Given the description of an element on the screen output the (x, y) to click on. 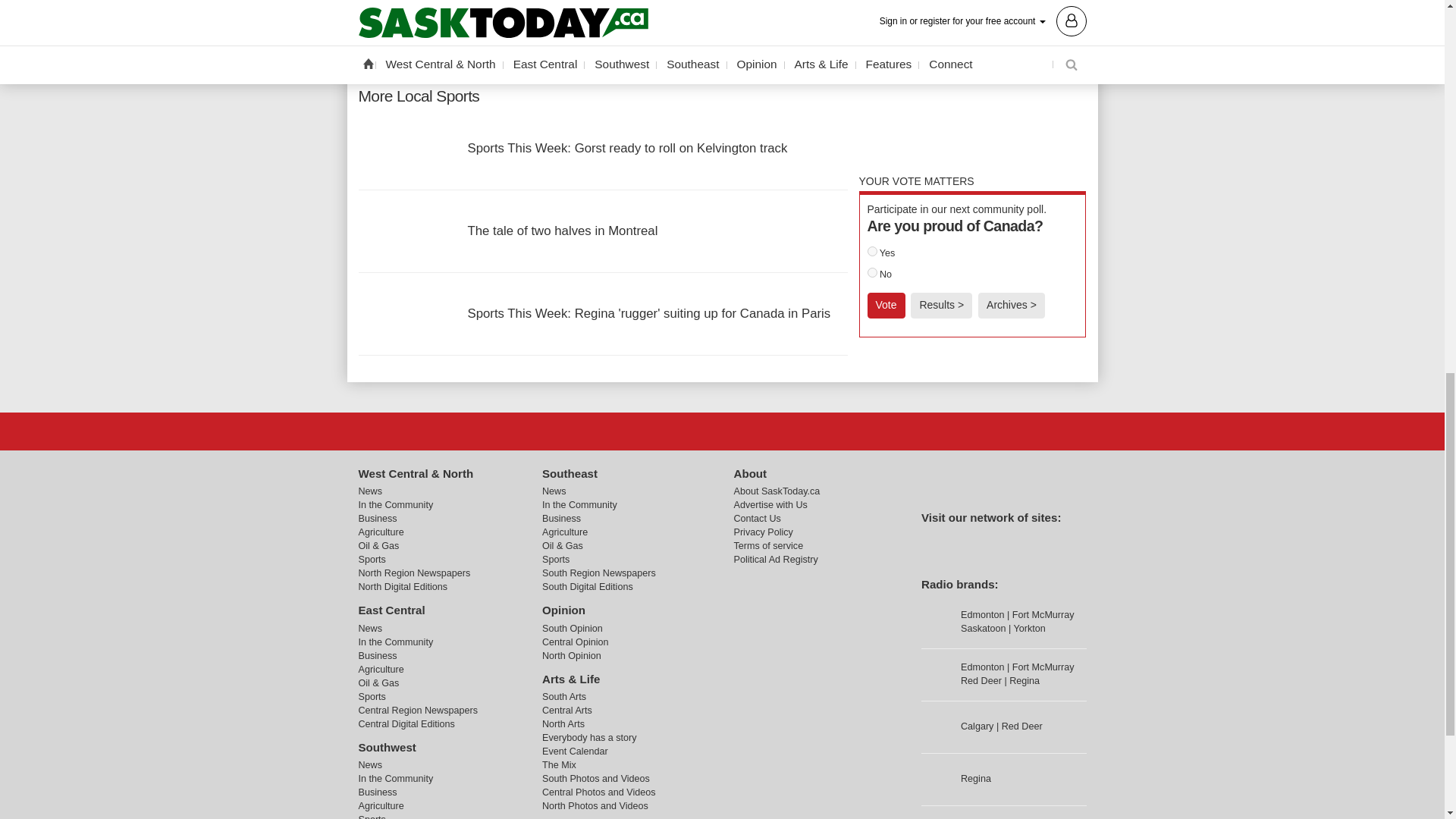
122182 (872, 251)
3rd party ad content (972, 80)
122183 (872, 272)
